Given the description of an element on the screen output the (x, y) to click on. 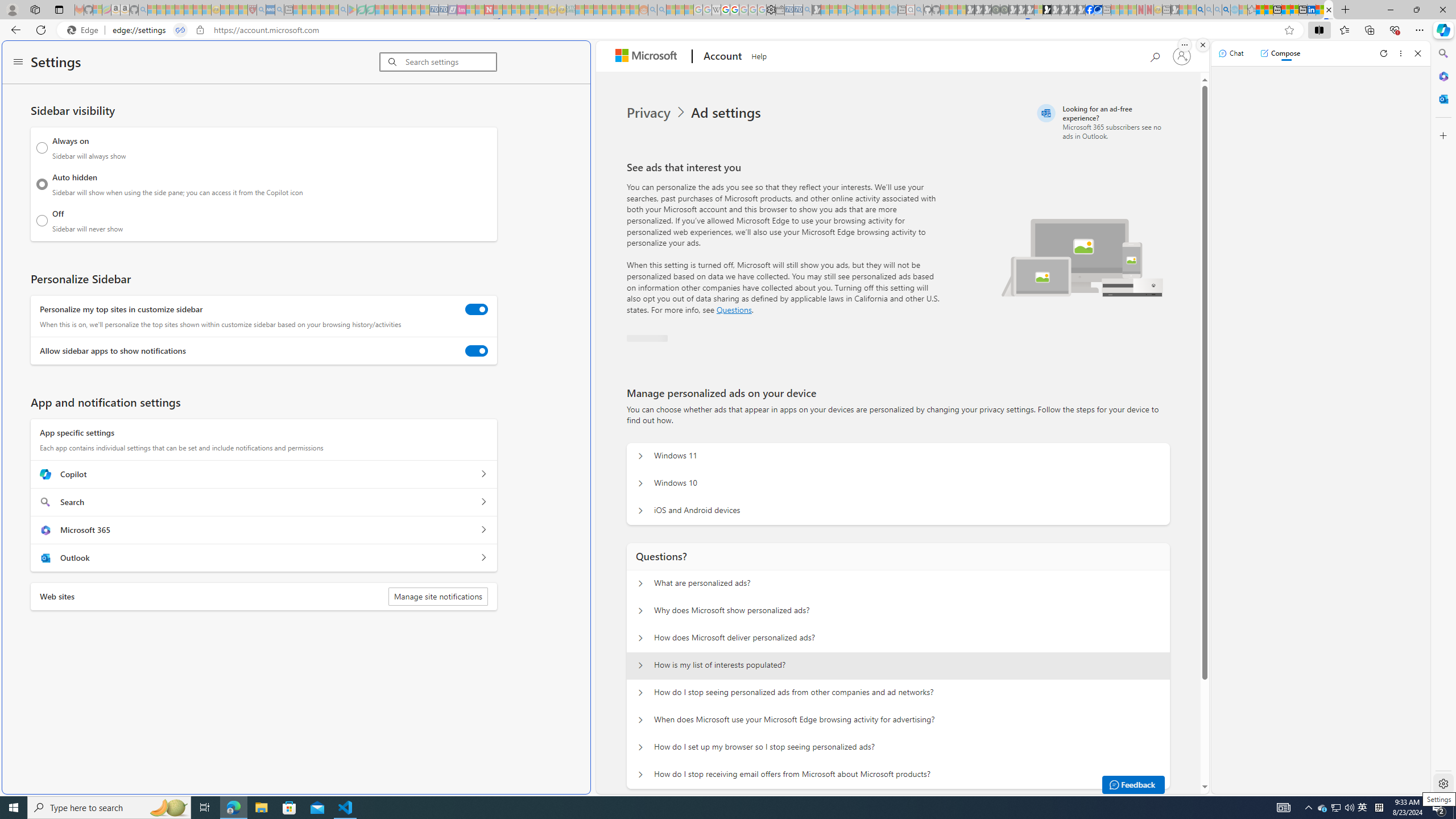
Google Chrome Internet Browser Download - Search Images (1225, 9)
Close split screen. (1202, 45)
Allow sidebar apps to show notifications (476, 350)
New Report Confirms 2023 Was Record Hot | Watch - Sleeping (188, 9)
